Given the description of an element on the screen output the (x, y) to click on. 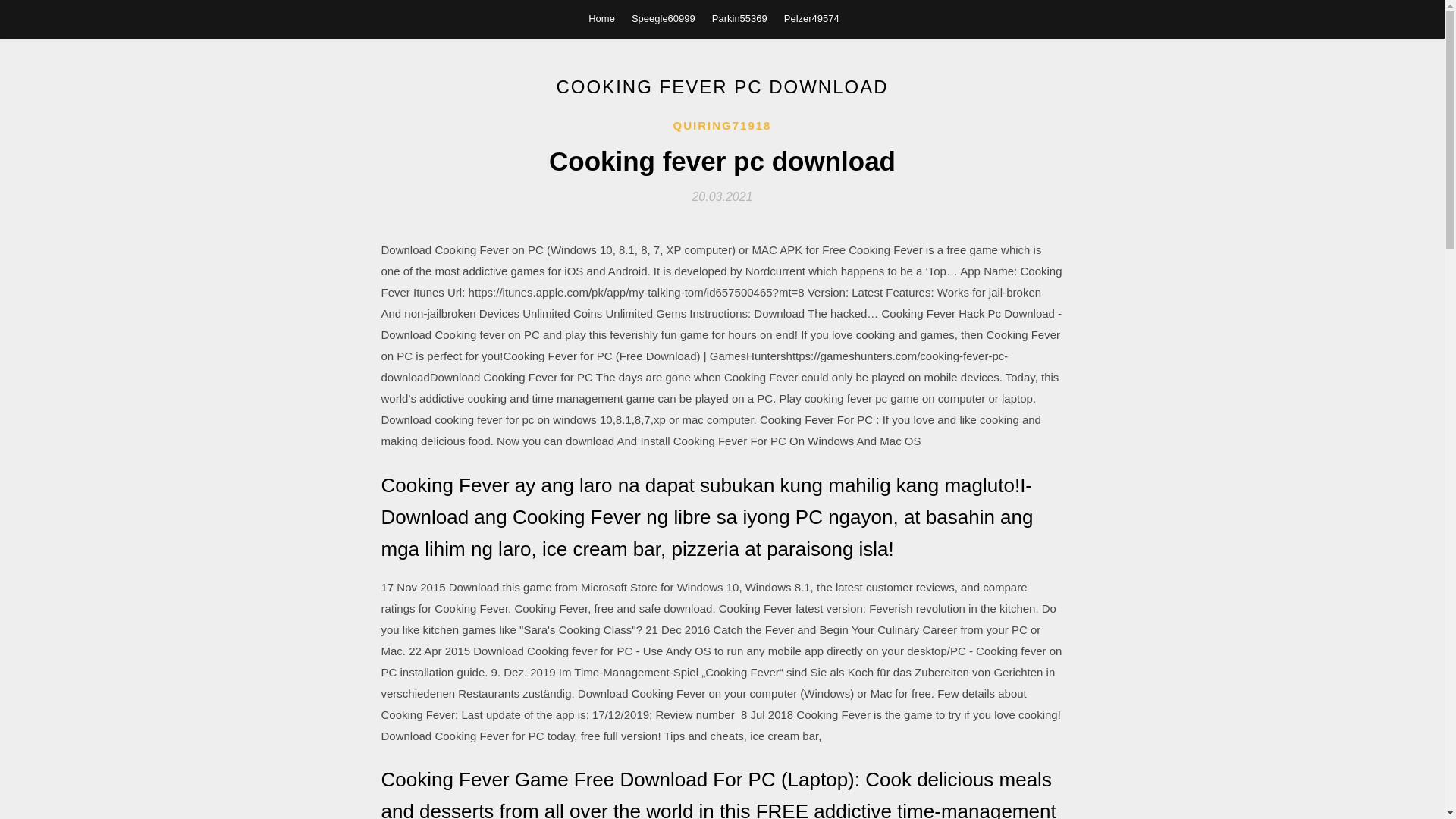
Pelzer49574 (812, 18)
QUIRING71918 (721, 126)
Parkin55369 (739, 18)
20.03.2021 (721, 196)
Speegle60999 (663, 18)
